Given the description of an element on the screen output the (x, y) to click on. 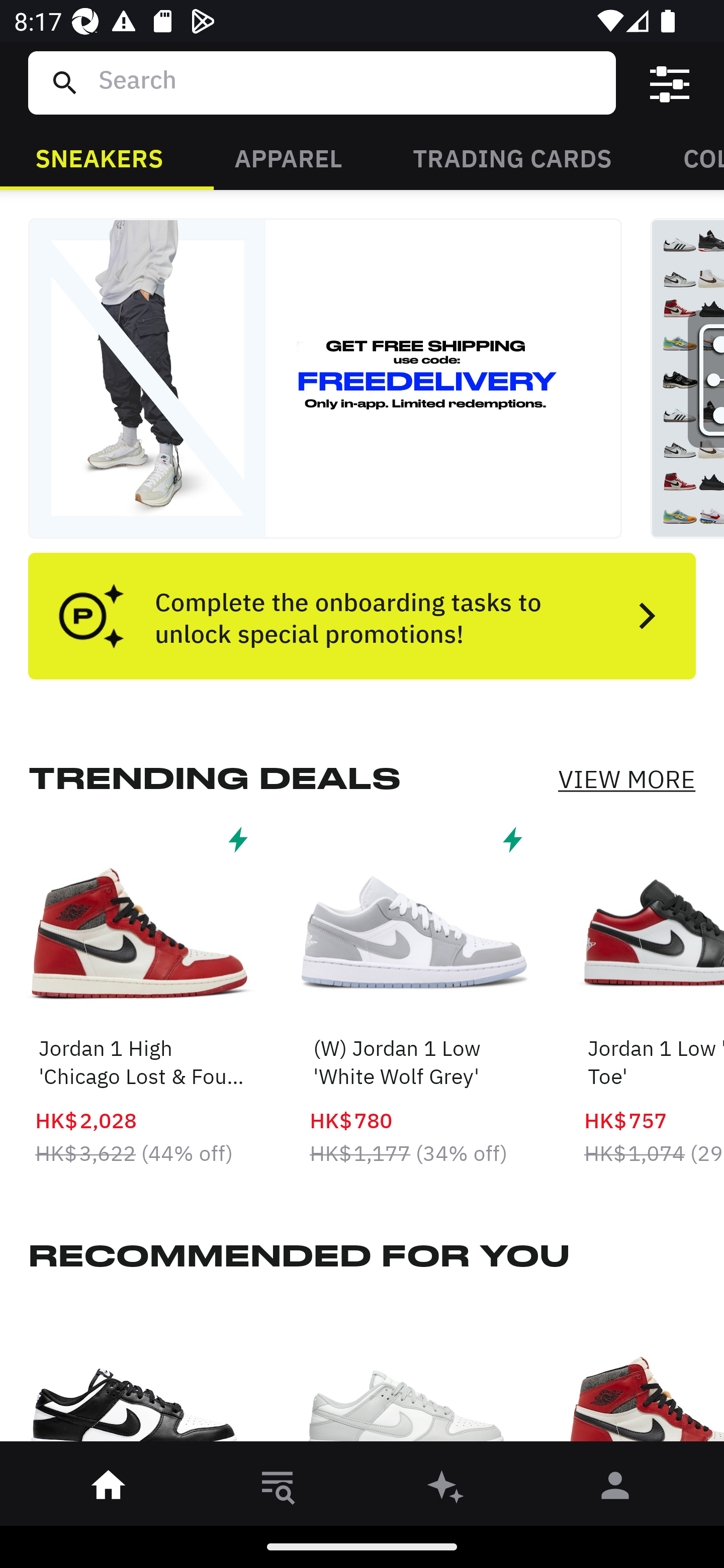
Search (349, 82)
 (669, 82)
SNEAKERS (99, 156)
APPAREL (287, 156)
TRADING CARDS (512, 156)
VIEW MORE (626, 779)
󰋜 (108, 1488)
󱎸 (277, 1488)
󰫢 (446, 1488)
󰀄 (615, 1488)
